Given the description of an element on the screen output the (x, y) to click on. 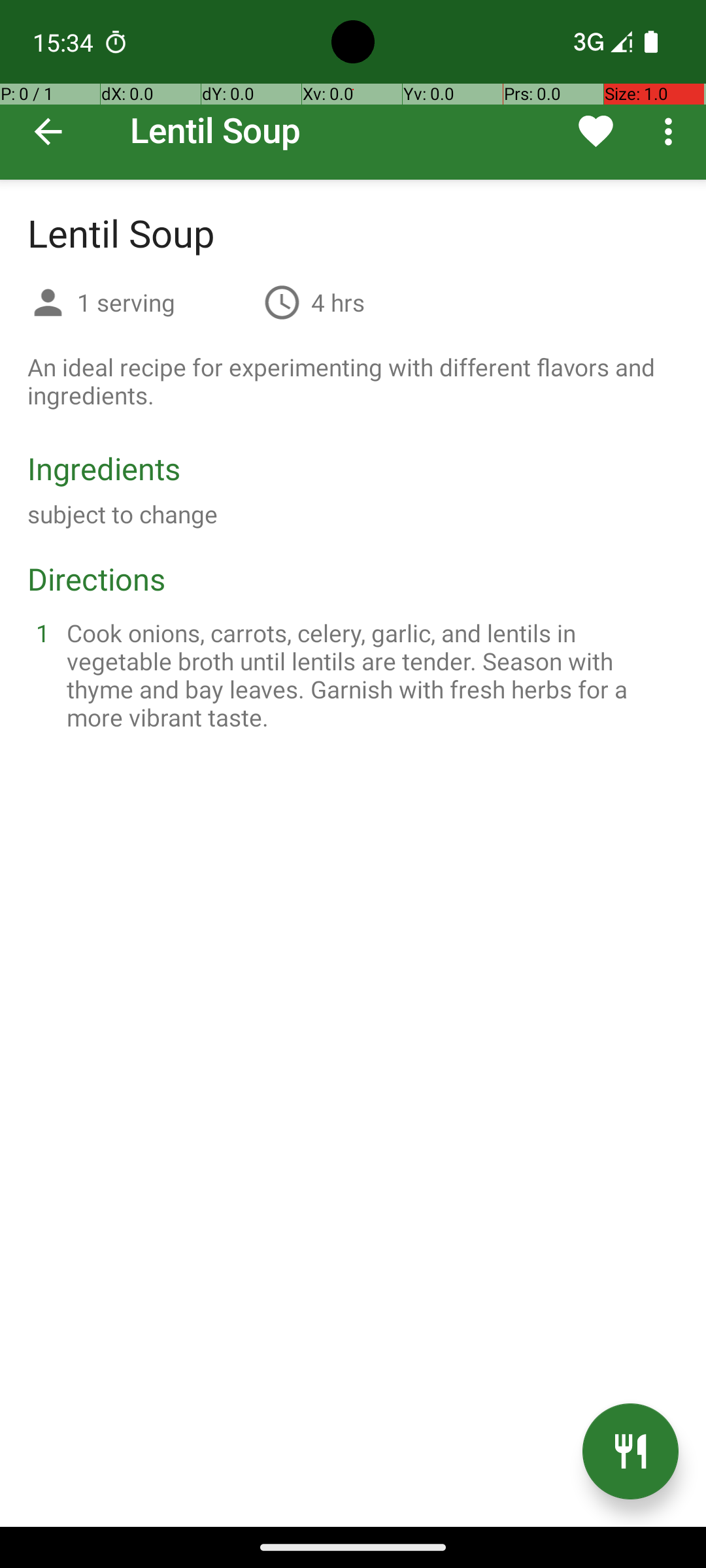
Cook onions, carrots, celery, garlic, and lentils in vegetable broth until lentils are tender. Season with thyme and bay leaves. Garnish with fresh herbs for a more vibrant taste. Element type: android.widget.TextView (368, 674)
